Given the description of an element on the screen output the (x, y) to click on. 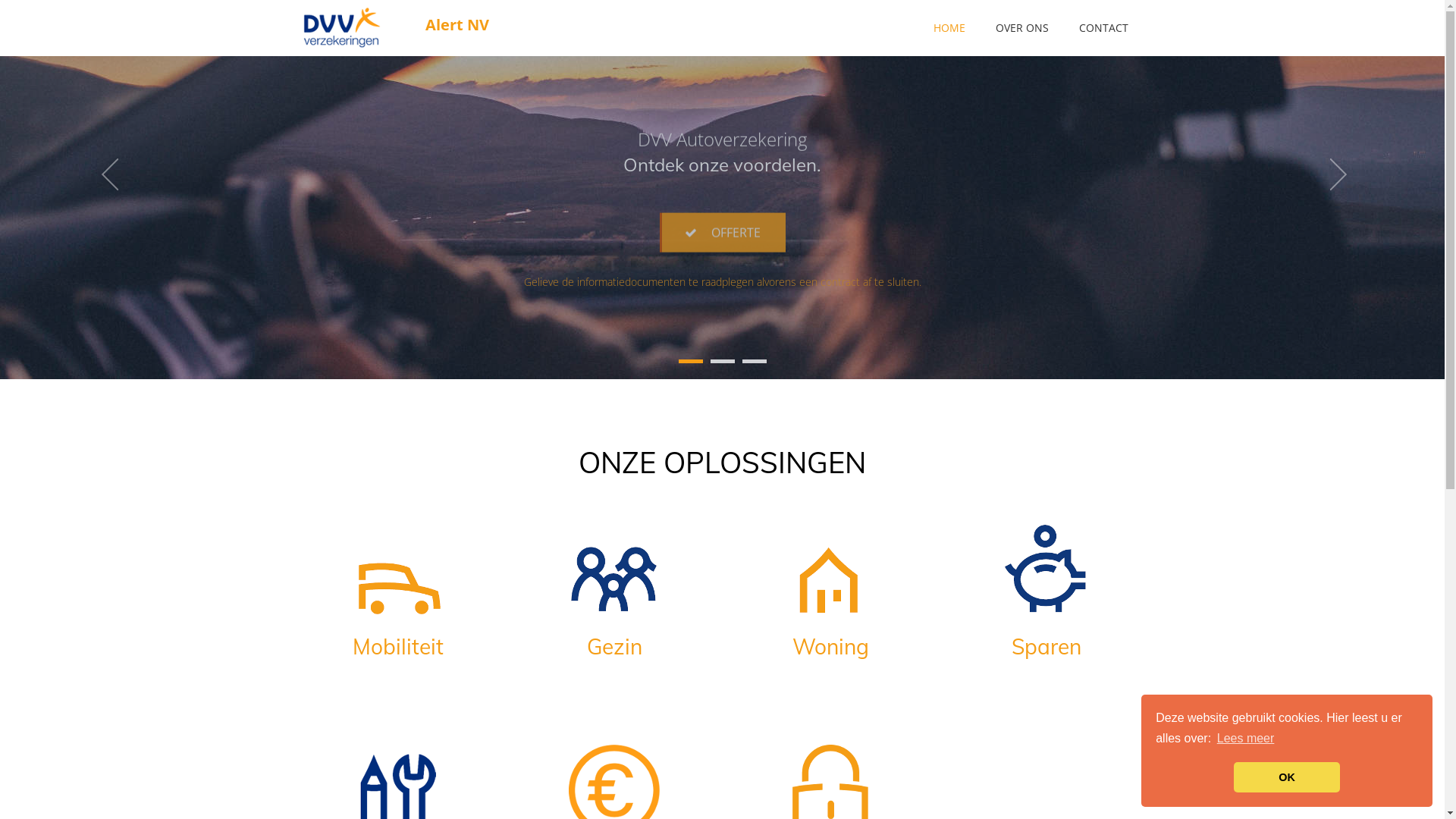
CONTACT Element type: text (1102, 28)
Gezin Element type: text (613, 614)
MEER INFO Element type: text (721, 284)
Mobiliteit Element type: text (398, 614)
Alert NV Element type: text (350, 27)
OVER ONS Element type: text (1021, 28)
Woning Element type: text (830, 614)
Lees meer Element type: text (1245, 738)
OK Element type: text (1286, 777)
Next Element type: text (1335, 189)
HOME
(HUIDIGE PAGINA) Element type: text (948, 28)
Sparen Element type: text (1045, 614)
Previous Element type: text (108, 189)
